Given the description of an element on the screen output the (x, y) to click on. 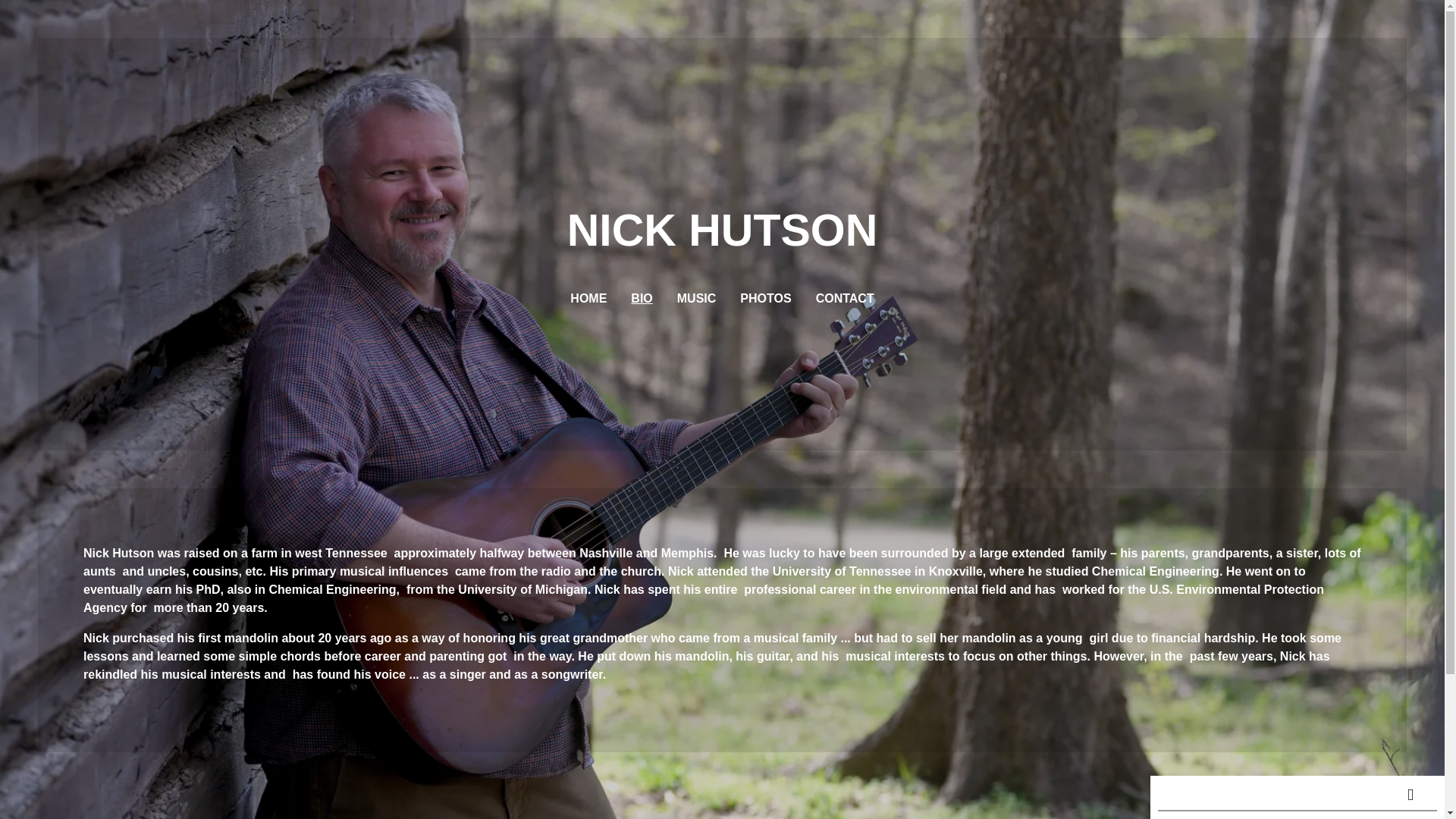
HOME (588, 298)
NICK HUTSON (722, 238)
CONTACT (845, 298)
PHOTOS (764, 298)
BIO (641, 298)
MUSIC (696, 298)
